Given the description of an element on the screen output the (x, y) to click on. 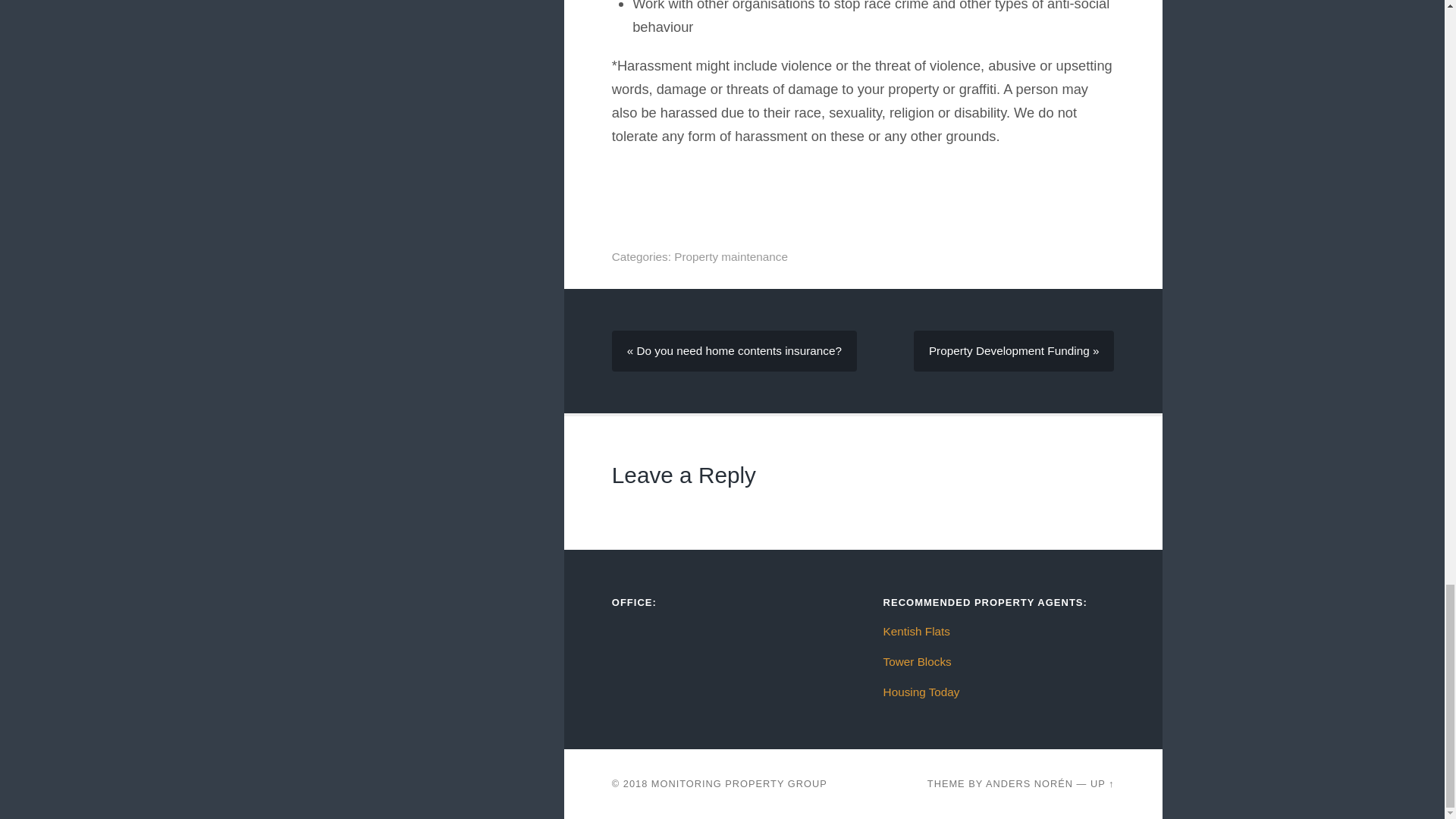
Next post: Property Development Funding (1013, 350)
Previous post: Do you need home contents insurance? (734, 350)
Tower Blocks (917, 661)
Monitoring Property Group (738, 783)
Kentish Flats (916, 631)
To the top (1102, 783)
MONITORING PROPERTY GROUP (738, 783)
Housing Today (921, 691)
